Given the description of an element on the screen output the (x, y) to click on. 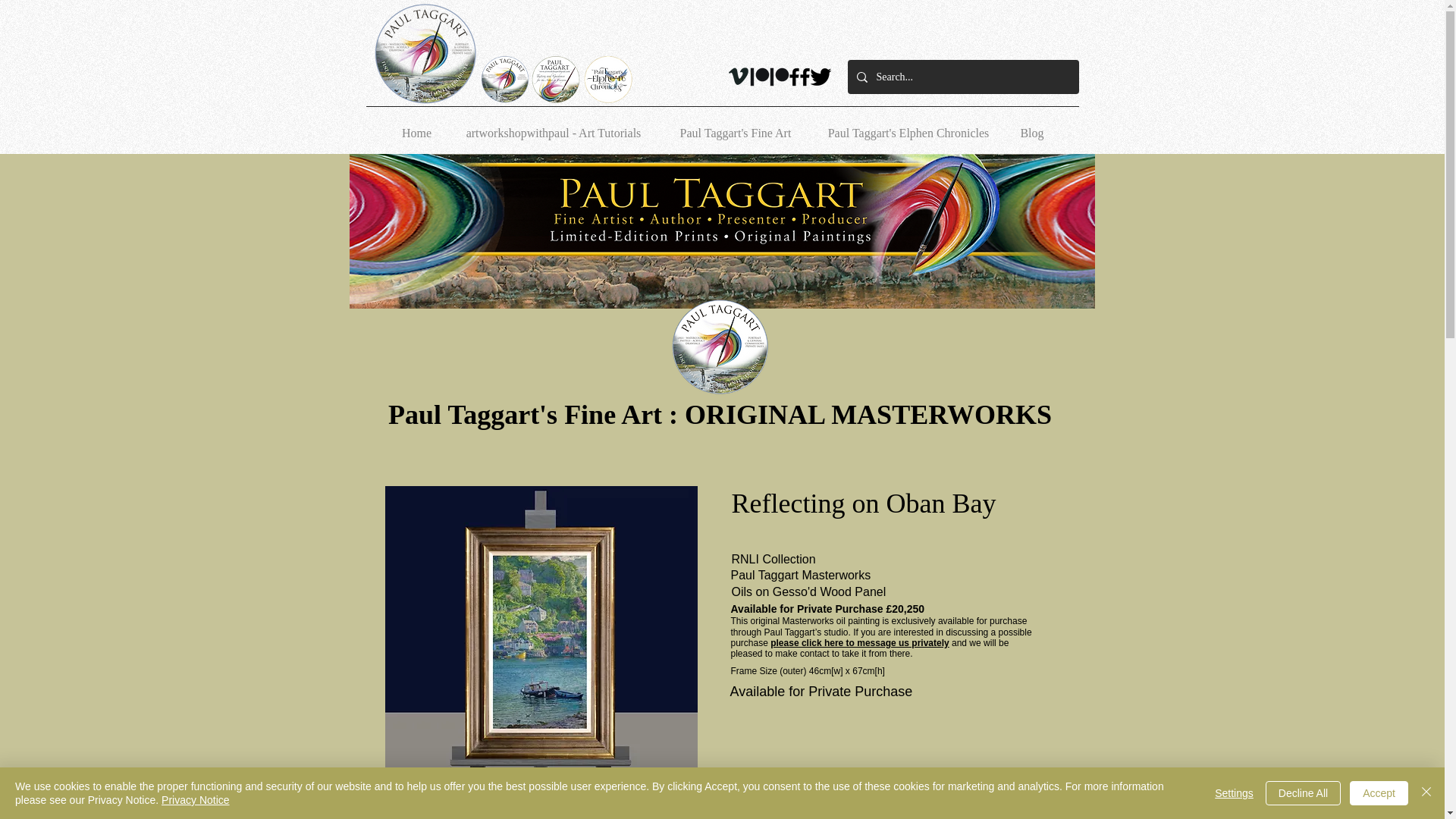
Paul Taggart on Vimeo (737, 75)
Home (417, 126)
artworkshopwithpaul - Art Tutorials (553, 126)
Click to Magnify (541, 632)
Paul Taggart's Elphen Chronicles (908, 126)
Paul Taggart's Elphen Chronicles (607, 79)
Paul Taggart on Twitter (819, 76)
Paul Taggart's Fine Art (735, 126)
home page artworkshopwthpaul (424, 54)
Paul Taggart's Fine Art : ORIGINAL MASTERWORKS (719, 414)
